Given the description of an element on the screen output the (x, y) to click on. 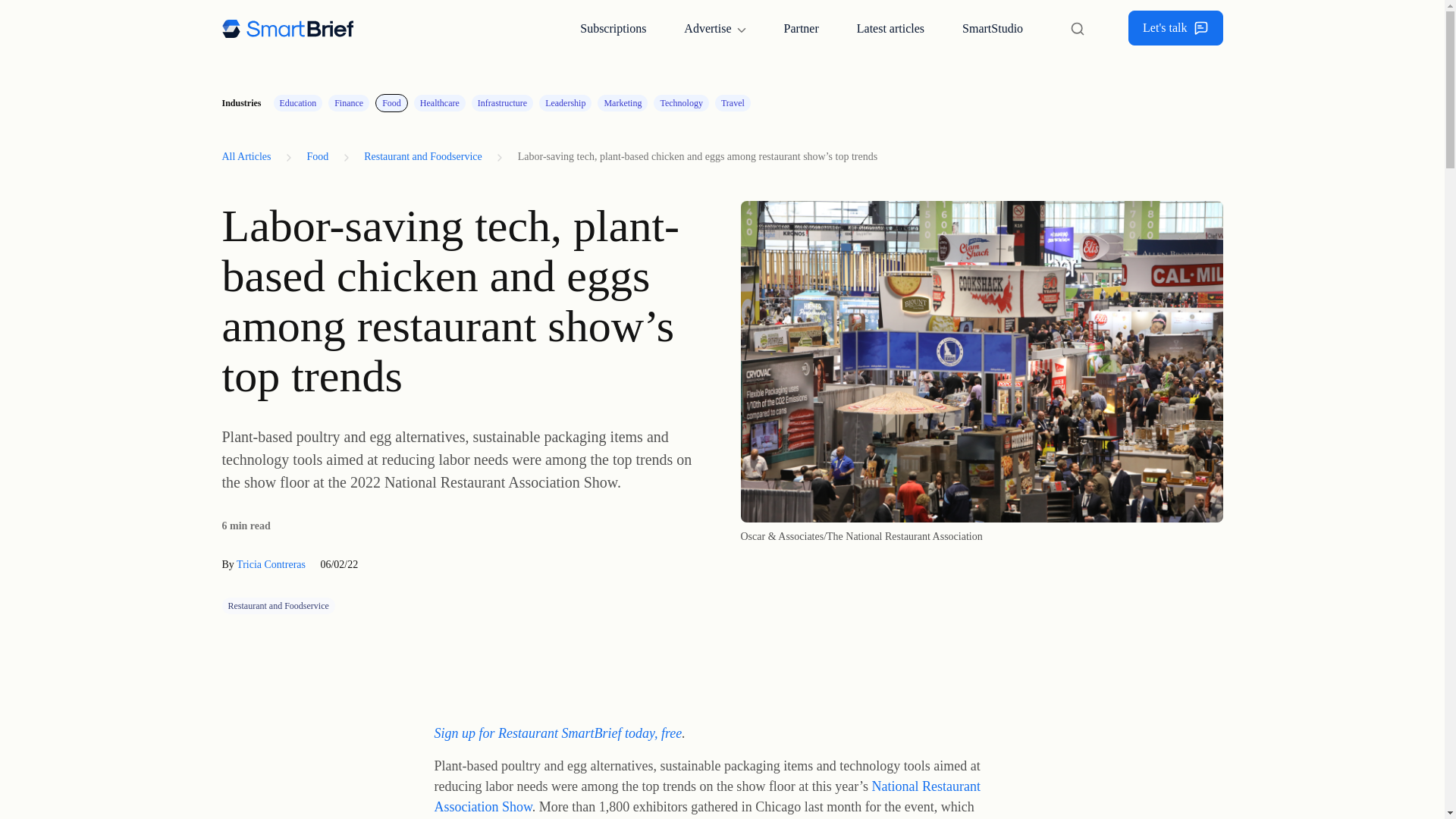
Leadership (564, 103)
SmartStudio (992, 28)
Infrastructure (501, 103)
Food (317, 156)
Restaurant and Foodservice (277, 605)
Latest articles (890, 28)
Technology (680, 103)
Tricia Contreras (270, 564)
Advertise (714, 28)
Healthcare (439, 103)
Travel (732, 103)
All Articles (250, 156)
Partner (801, 28)
Restaurant and Foodservice (423, 156)
Sign up for Restaurant SmartBrief today, free (557, 733)
